Given the description of an element on the screen output the (x, y) to click on. 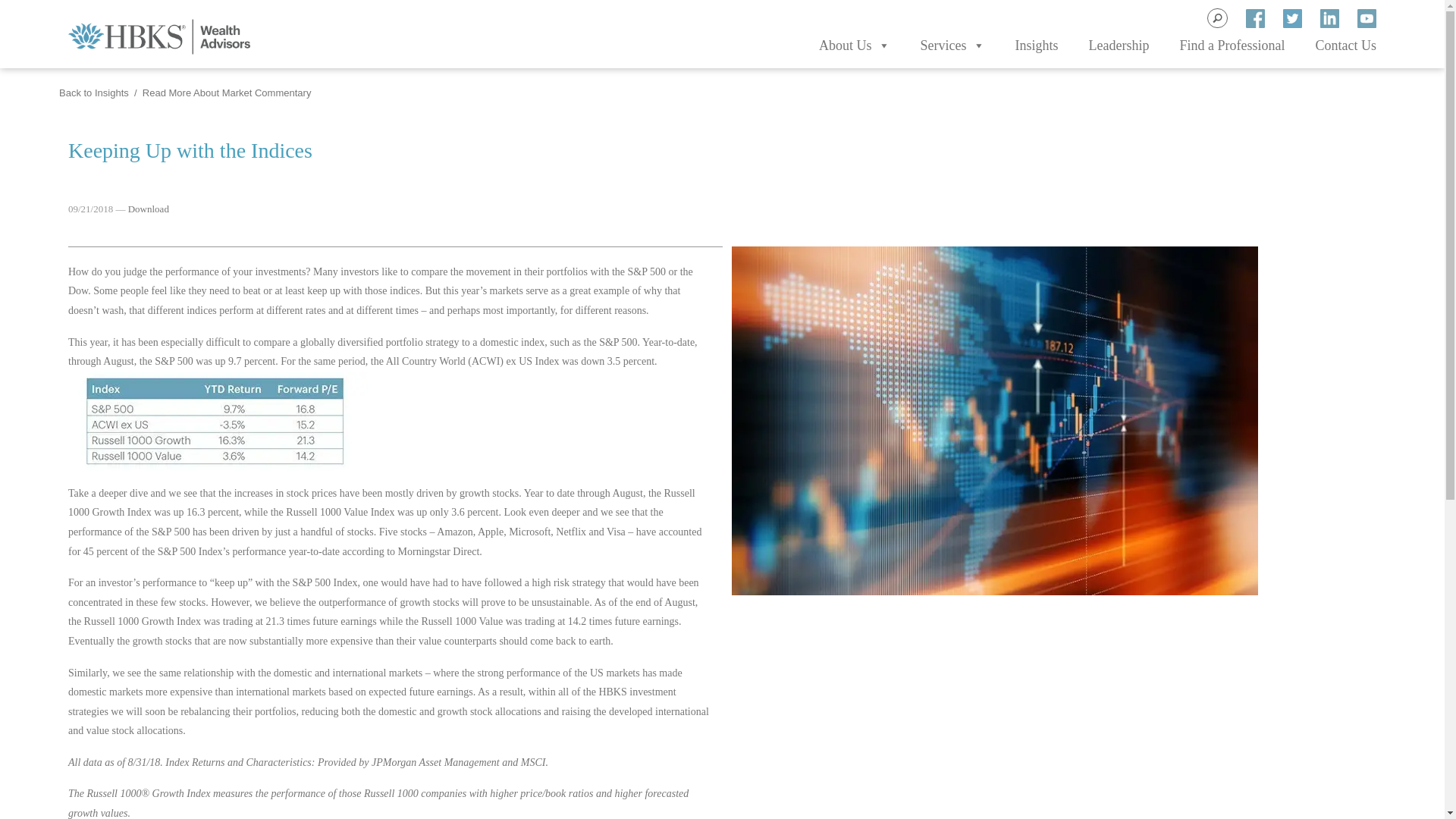
Read More About Market Commentary (226, 92)
Find a Professional (1232, 44)
About Us (853, 44)
Leadership (1119, 44)
Services (952, 44)
Back to Insights (94, 92)
Insights (1036, 44)
Download (148, 208)
Contact Us (1344, 44)
Search (22, 9)
